Given the description of an element on the screen output the (x, y) to click on. 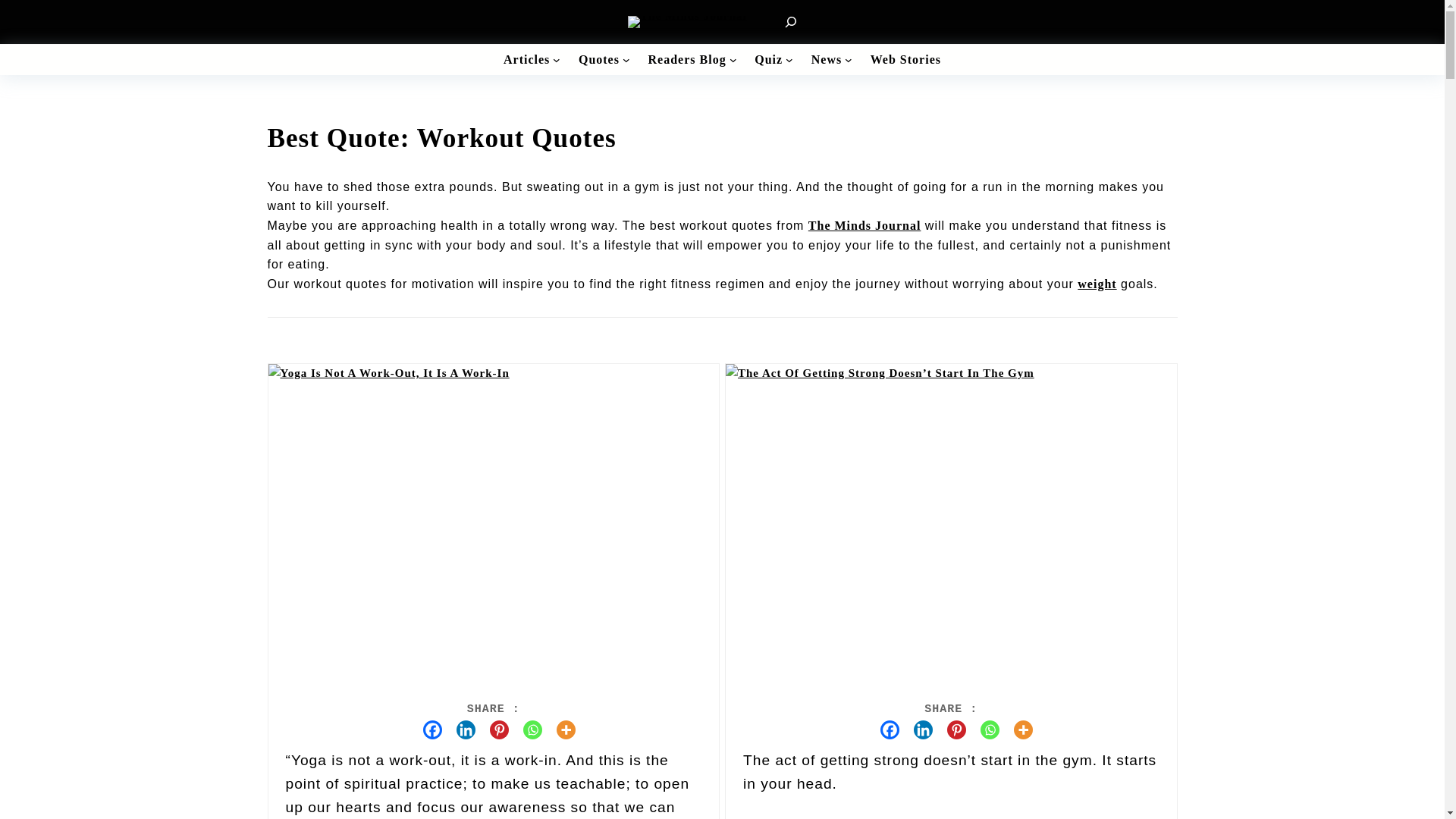
Facebook (884, 729)
Linkedin (460, 729)
More (1017, 729)
Yoga Is Not A Work-Out, It Is A Work-In (388, 372)
The Act Of Getting Strong Doesn't Start In The Gym (879, 372)
More (559, 729)
Pinterest (951, 729)
Whatsapp (526, 729)
Linkedin (917, 729)
Facebook (427, 729)
